Given the description of an element on the screen output the (x, y) to click on. 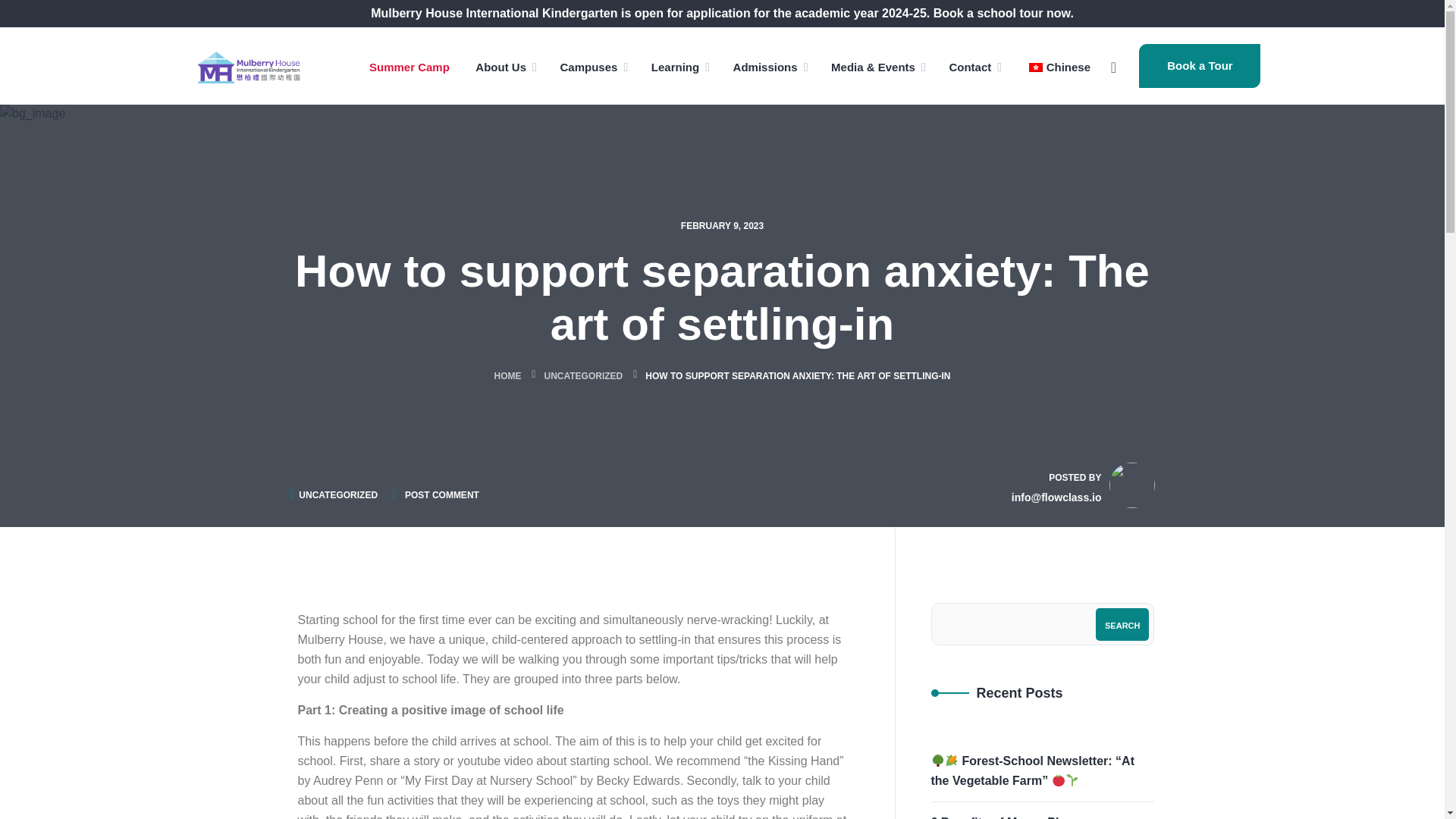
Campuses (588, 66)
About Us (500, 66)
Summer Camp (409, 66)
Chinese (1035, 67)
Contact (970, 66)
Learning (674, 66)
Admissions (765, 66)
